Given the description of an element on the screen output the (x, y) to click on. 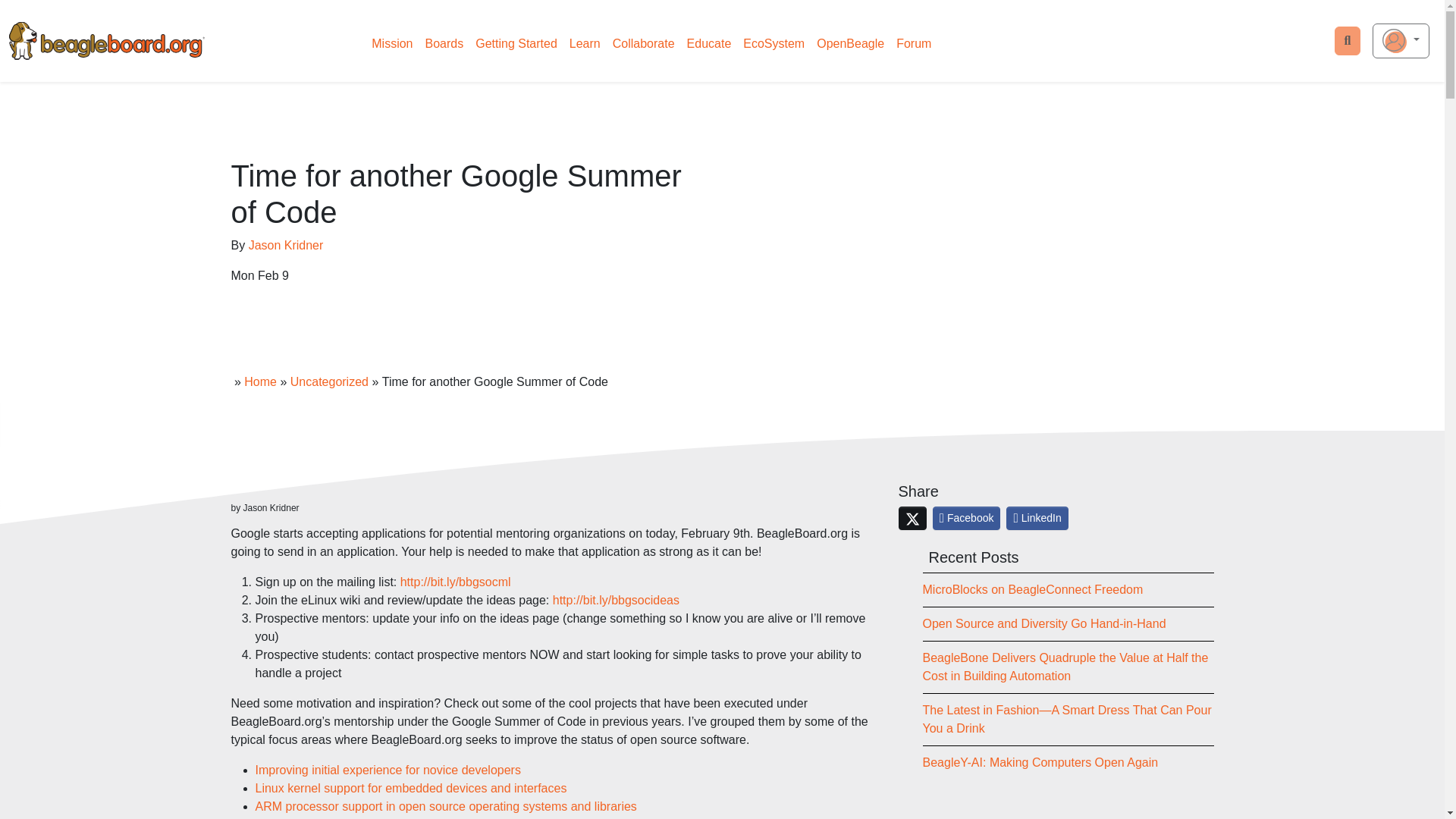
Improving initial experience for novice developers (386, 769)
Boards (443, 43)
Linux kernel support for embedded devices and interfaces (410, 788)
Home (260, 381)
Visit or group on LinkedIn (1036, 517)
Toggle search (1348, 40)
Educate (709, 43)
Share on X (912, 517)
Getting Started (515, 43)
